Given the description of an element on the screen output the (x, y) to click on. 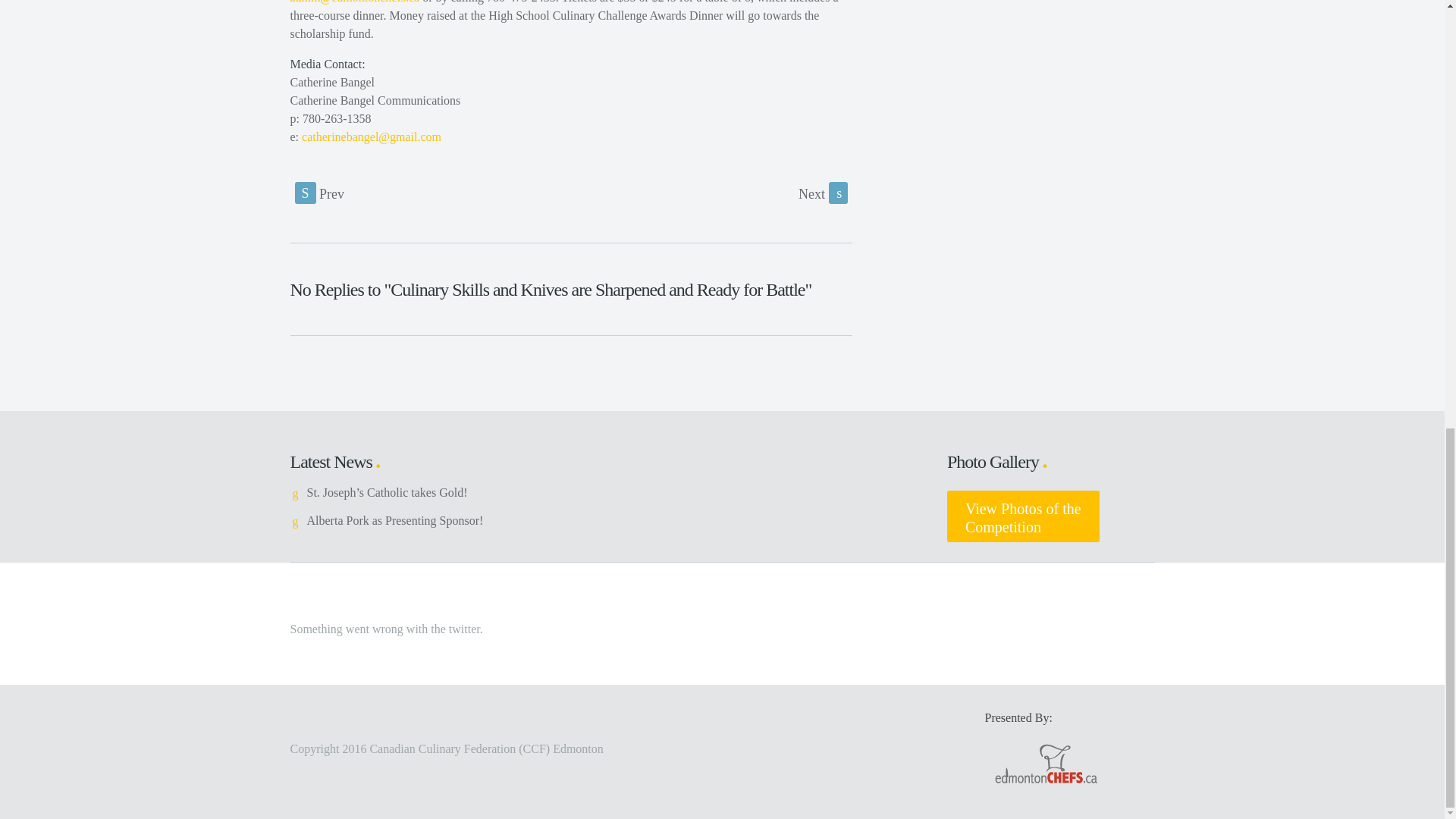
Next s (822, 192)
Alberta Pork as Presenting Sponsor! (394, 520)
S Prev (1023, 516)
